Given the description of an element on the screen output the (x, y) to click on. 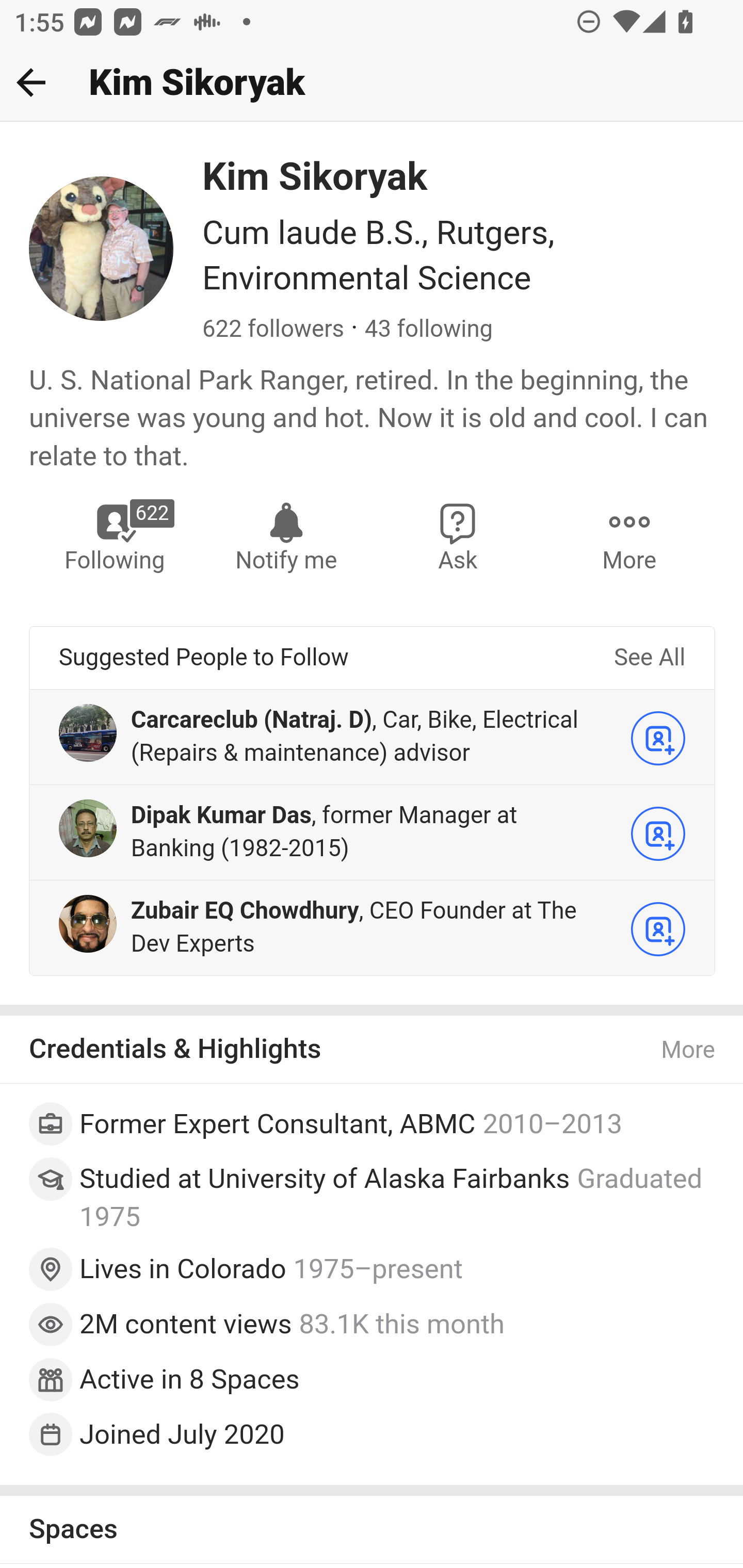
Back (30, 82)
622 followers (273, 329)
43 following (428, 329)
Following Kim Sikoryak 622 Following (115, 536)
Notify me (285, 536)
Ask (458, 536)
More (628, 536)
See All (649, 657)
Profile photo for Carcareclub (Natraj. D) (87, 732)
Carcareclub (Natraj. D) (251, 719)
Follow Carcareclub (Natraj. D) (658, 737)
Profile photo for Dipak Kumar Das (87, 827)
Dipak Kumar Das (221, 815)
Follow Dipak Kumar Das (658, 833)
Profile photo for Zubair EQ Chowdhury (87, 923)
Zubair EQ Chowdhury (244, 910)
Follow Zubair EQ Chowdhury (658, 929)
More (688, 1050)
